Given the description of an element on the screen output the (x, y) to click on. 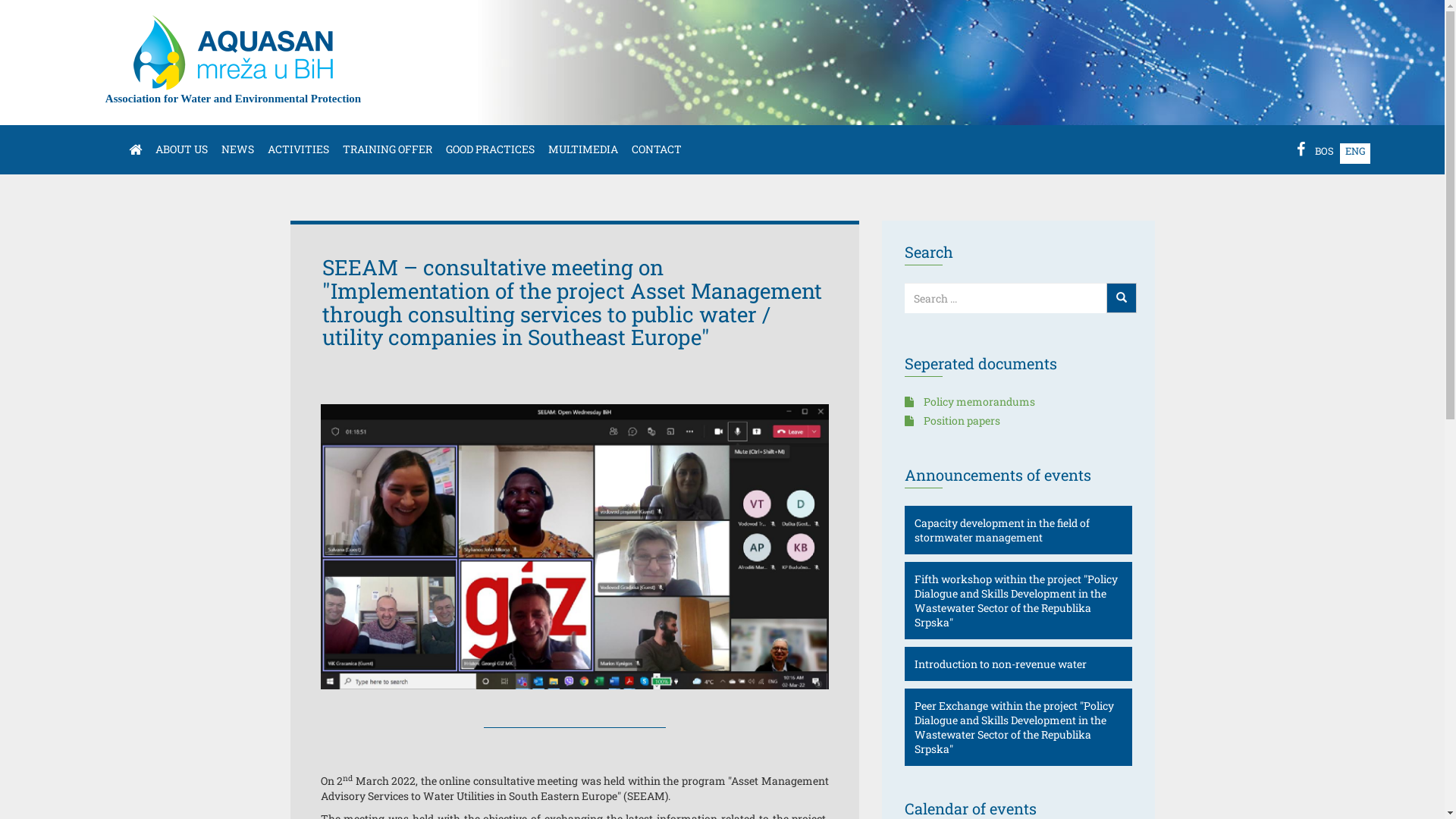
CONTACT Element type: text (656, 149)
ACTIVITIES Element type: text (297, 149)
ENG Element type: text (1355, 150)
MULTIMEDIA Element type: text (582, 149)
Policy memorandums Element type: text (968, 401)
Position papers Element type: text (951, 420)
NEWS Element type: text (237, 149)
BOS Element type: text (1323, 150)
Introduction to non-revenue water Element type: text (1000, 663)
Capacity development in the field of stormwater management Element type: text (1001, 529)
TRAINING OFFER Element type: text (387, 149)
GOOD PRACTICES Element type: text (490, 149)
ABOUT US Element type: text (181, 149)
